Given the description of an element on the screen output the (x, y) to click on. 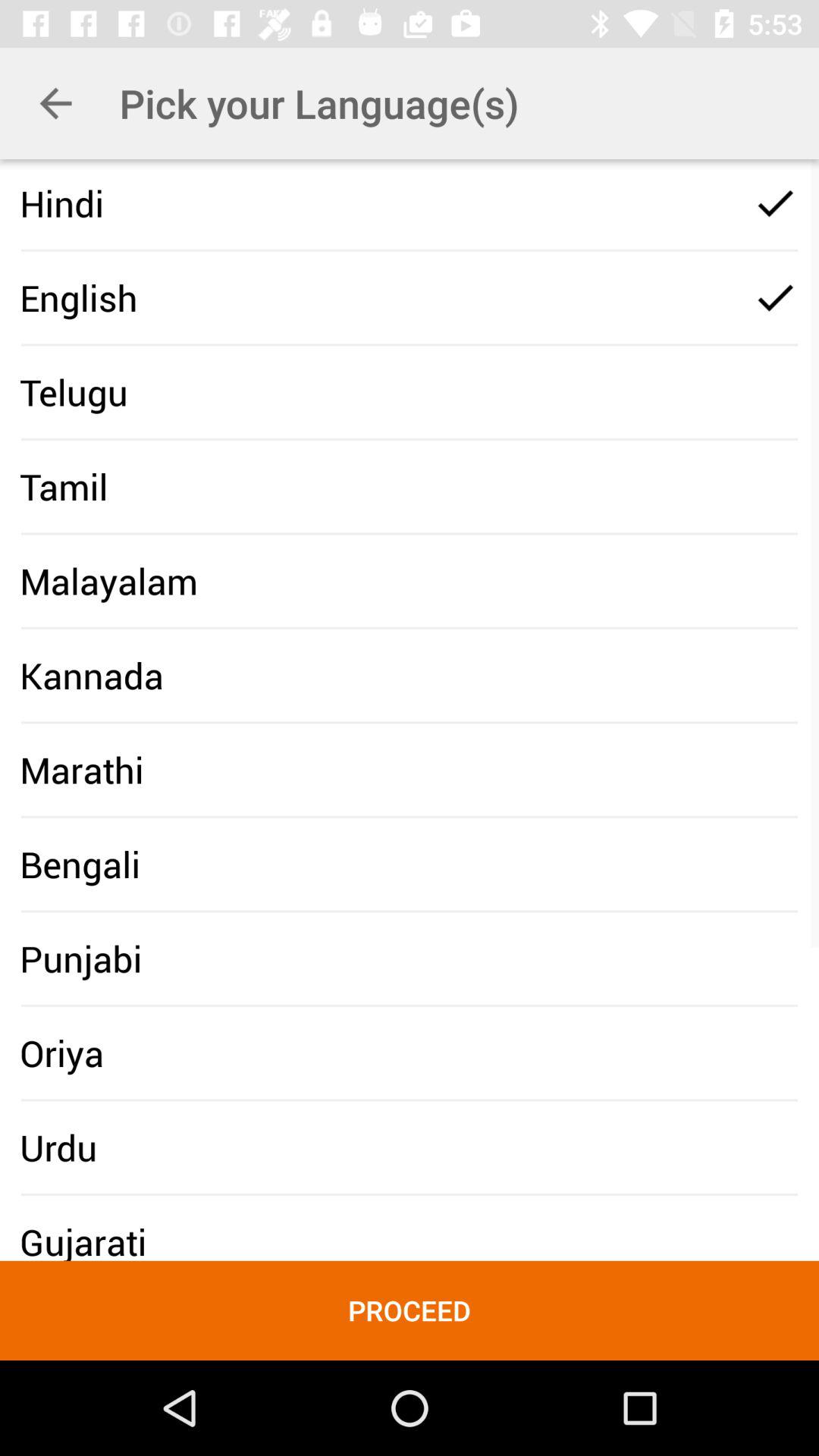
turn off the icon below marathi icon (79, 864)
